Given the description of an element on the screen output the (x, y) to click on. 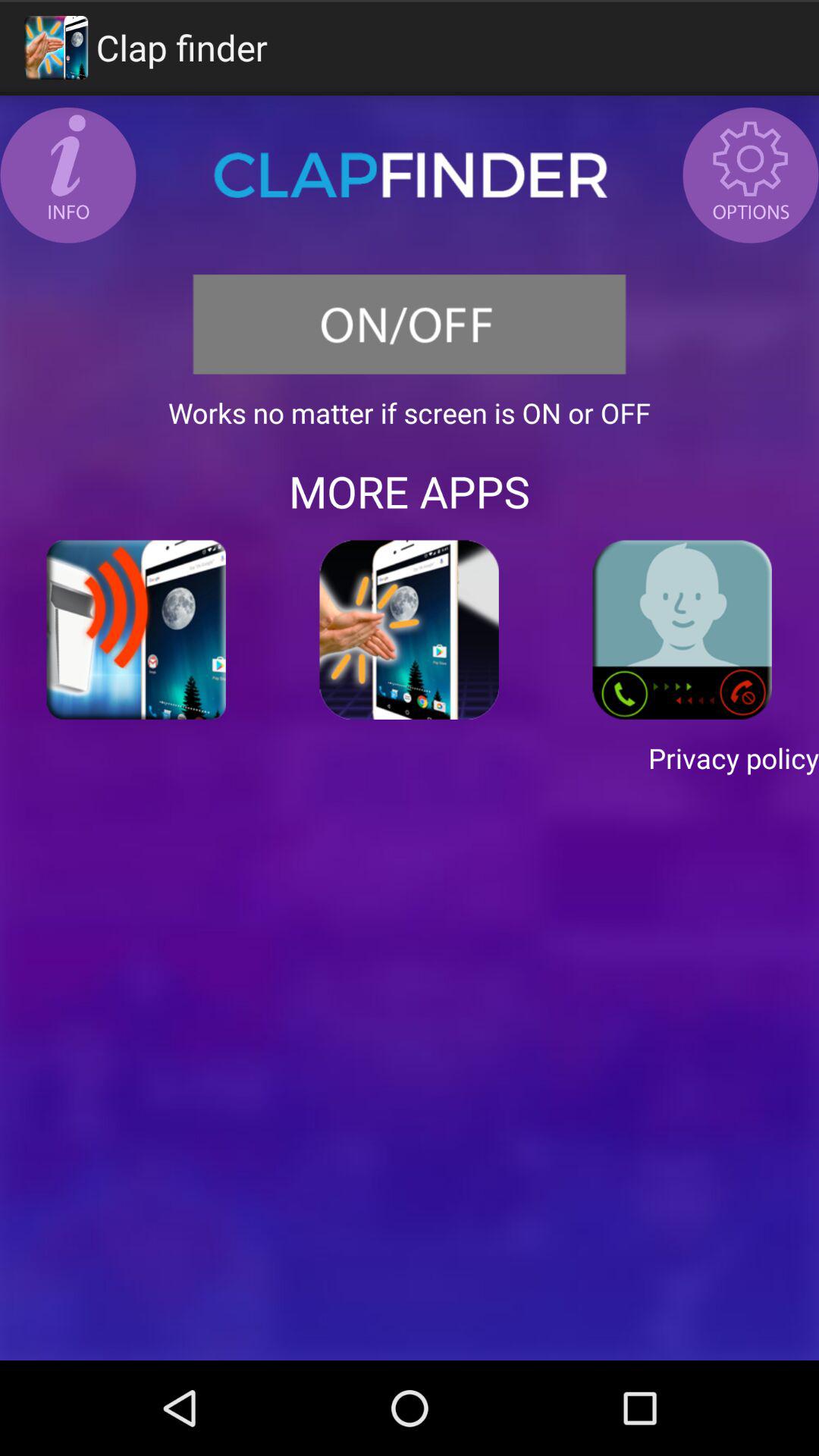
press item above the privacy policy app (682, 629)
